Given the description of an element on the screen output the (x, y) to click on. 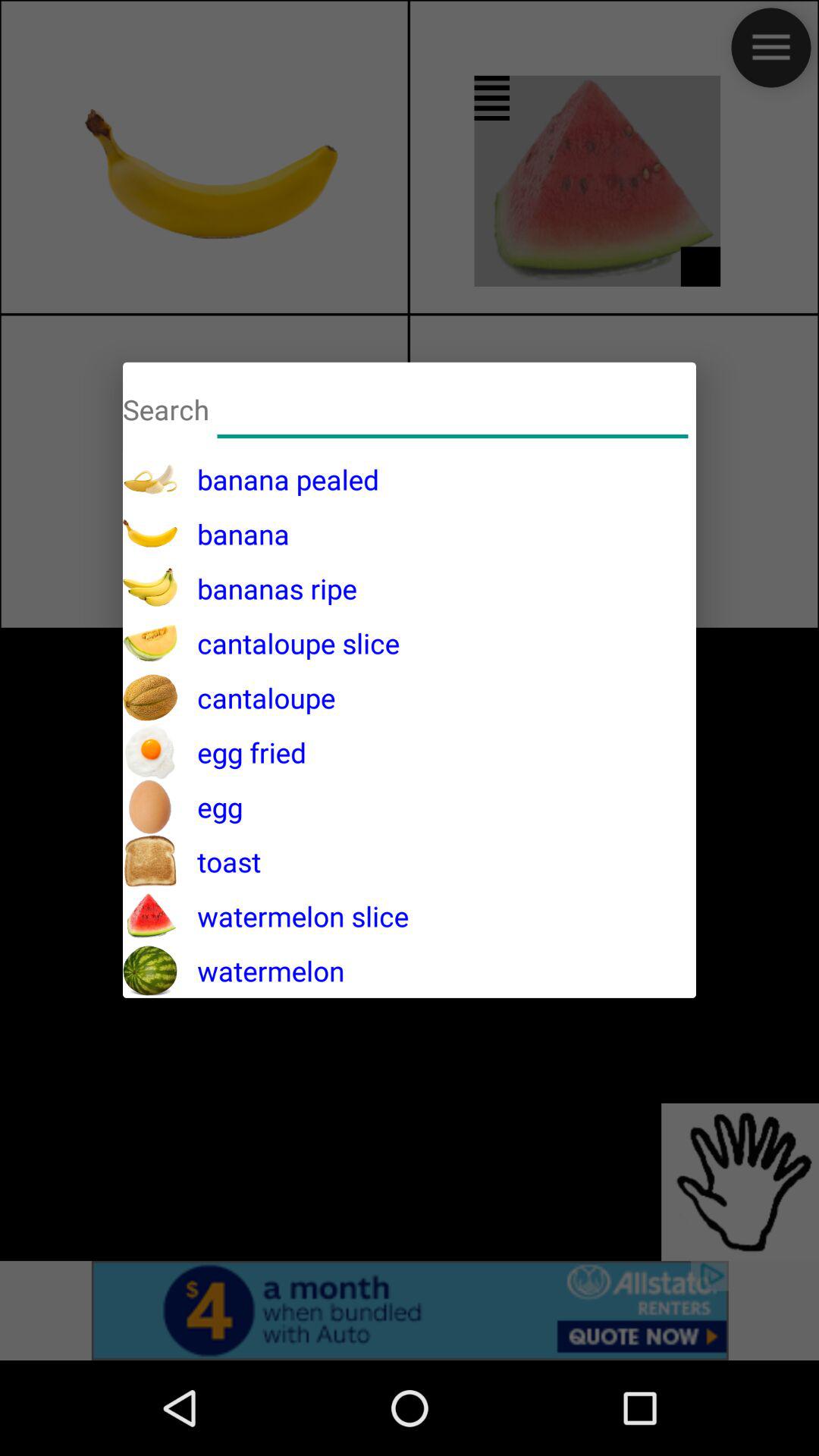
jump until the toast app (219, 861)
